Given the description of an element on the screen output the (x, y) to click on. 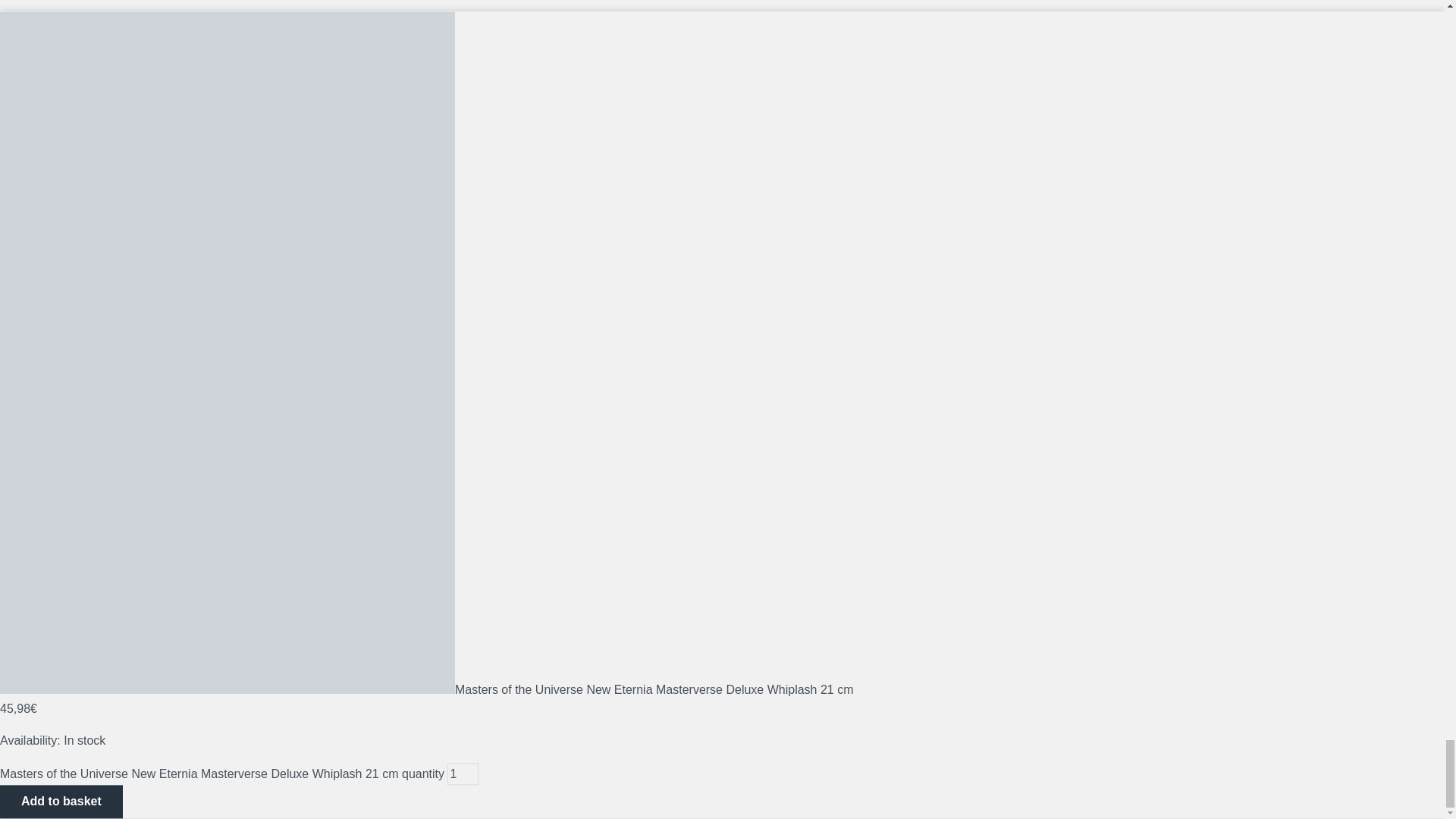
1 (462, 773)
